Given the description of an element on the screen output the (x, y) to click on. 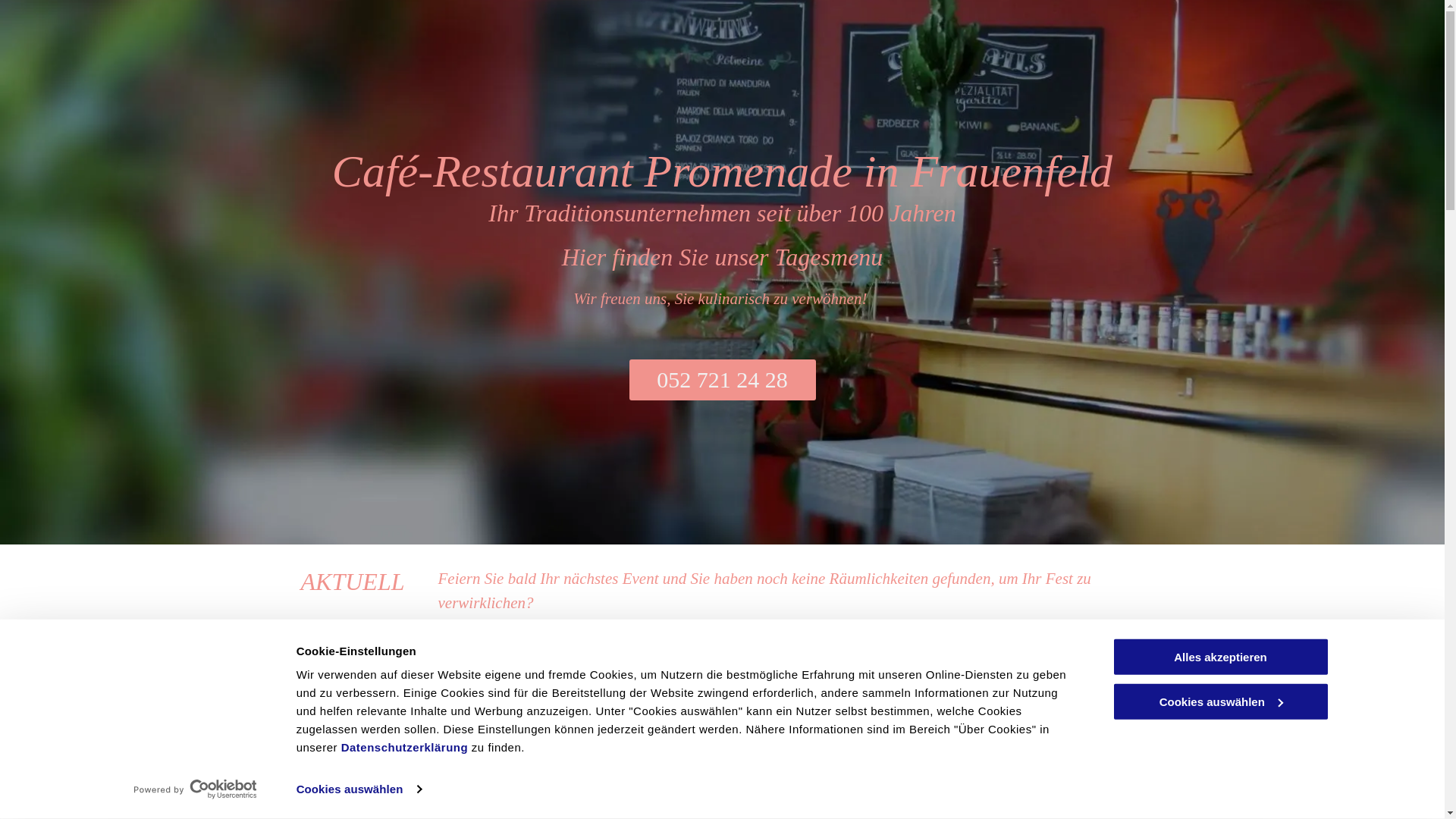
Alles akzeptieren Element type: text (1219, 656)
  Element type: text (694, 752)
Kontakt Element type: text (478, 670)
Hier finden Sie unser Tagesmenu Element type: text (722, 256)
052 721 24 28 Element type: text (722, 379)
Entdecken Sie neu auch unsere Take Away Karte hier! Element type: text (610, 729)
